Given the description of an element on the screen output the (x, y) to click on. 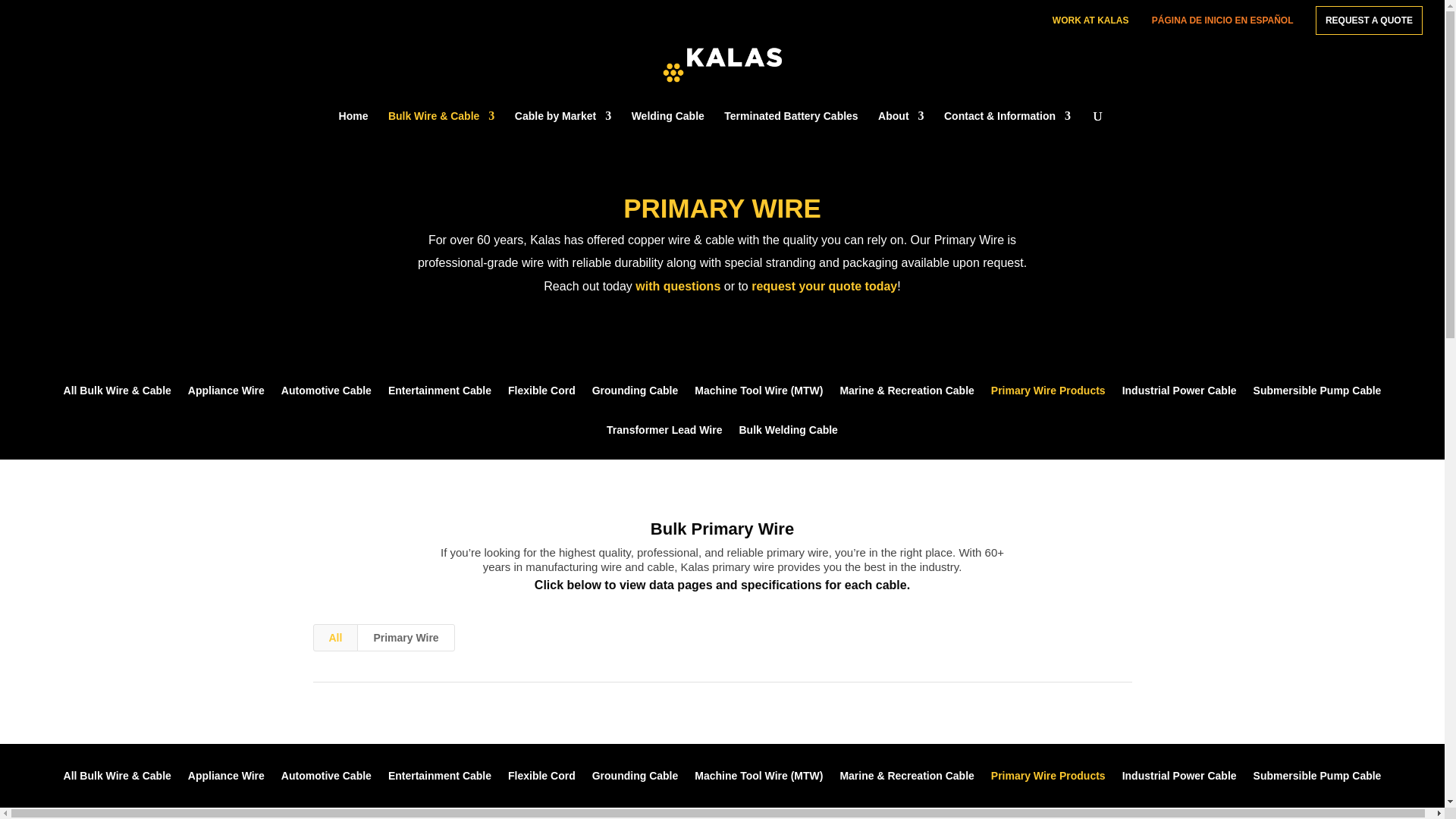
Terminated Battery Cables (790, 123)
Welding Cable (667, 123)
Home (353, 123)
REQUEST A QUOTE (1369, 20)
WORK AT KALAS (1090, 23)
Cable by Market (563, 123)
About (900, 123)
